Given the description of an element on the screen output the (x, y) to click on. 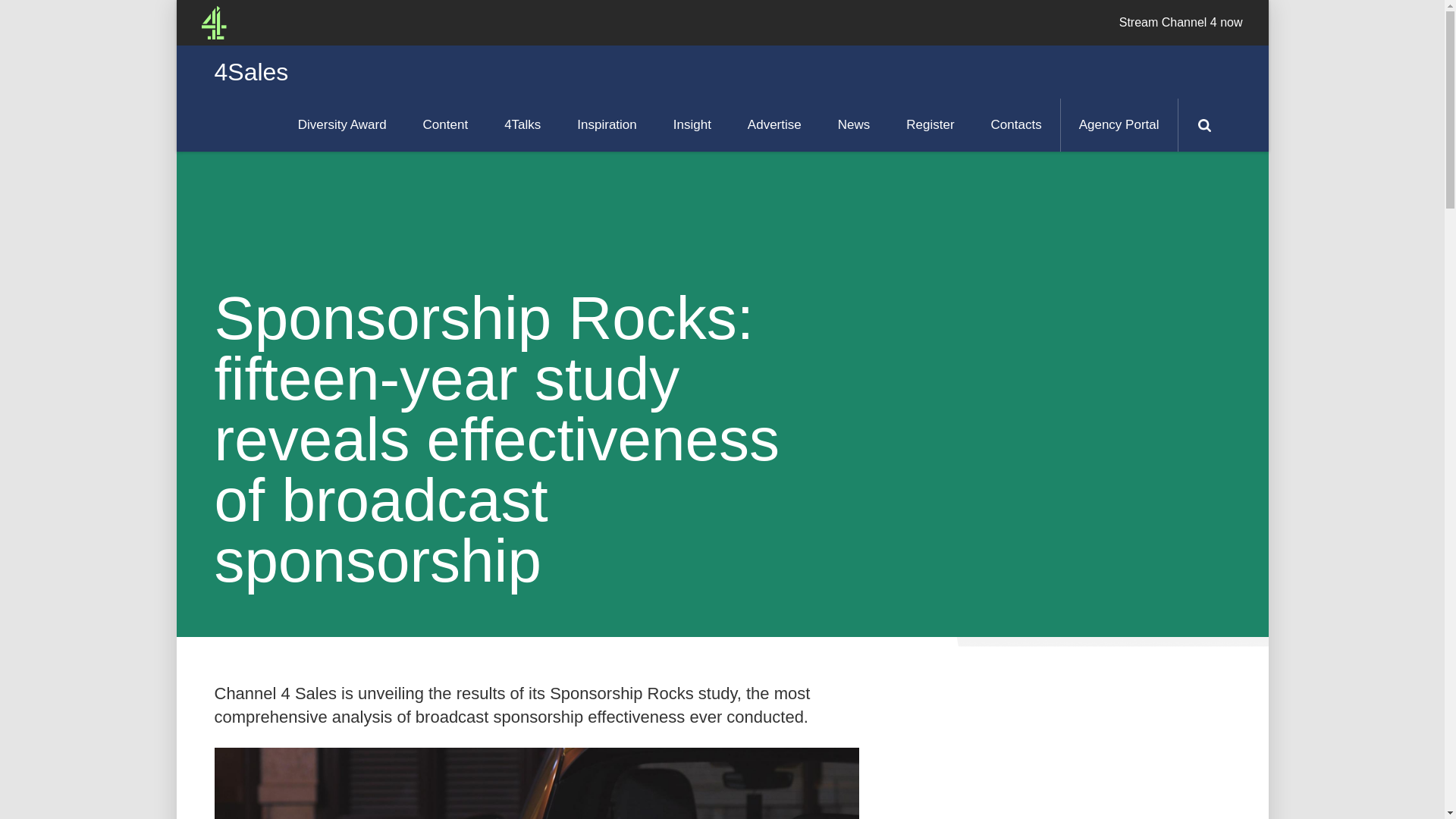
Insight (692, 124)
Stream Channel 4 now (1181, 22)
4Sales (251, 71)
4Talks (522, 124)
Agency Portal (1119, 124)
Search (1203, 124)
News (853, 124)
Jump to content (183, 7)
Inspiration (606, 124)
Content (445, 124)
Register (930, 124)
4Sales (212, 22)
Contacts (1015, 124)
Diversity Award (341, 124)
Advertise (774, 124)
